Given the description of an element on the screen output the (x, y) to click on. 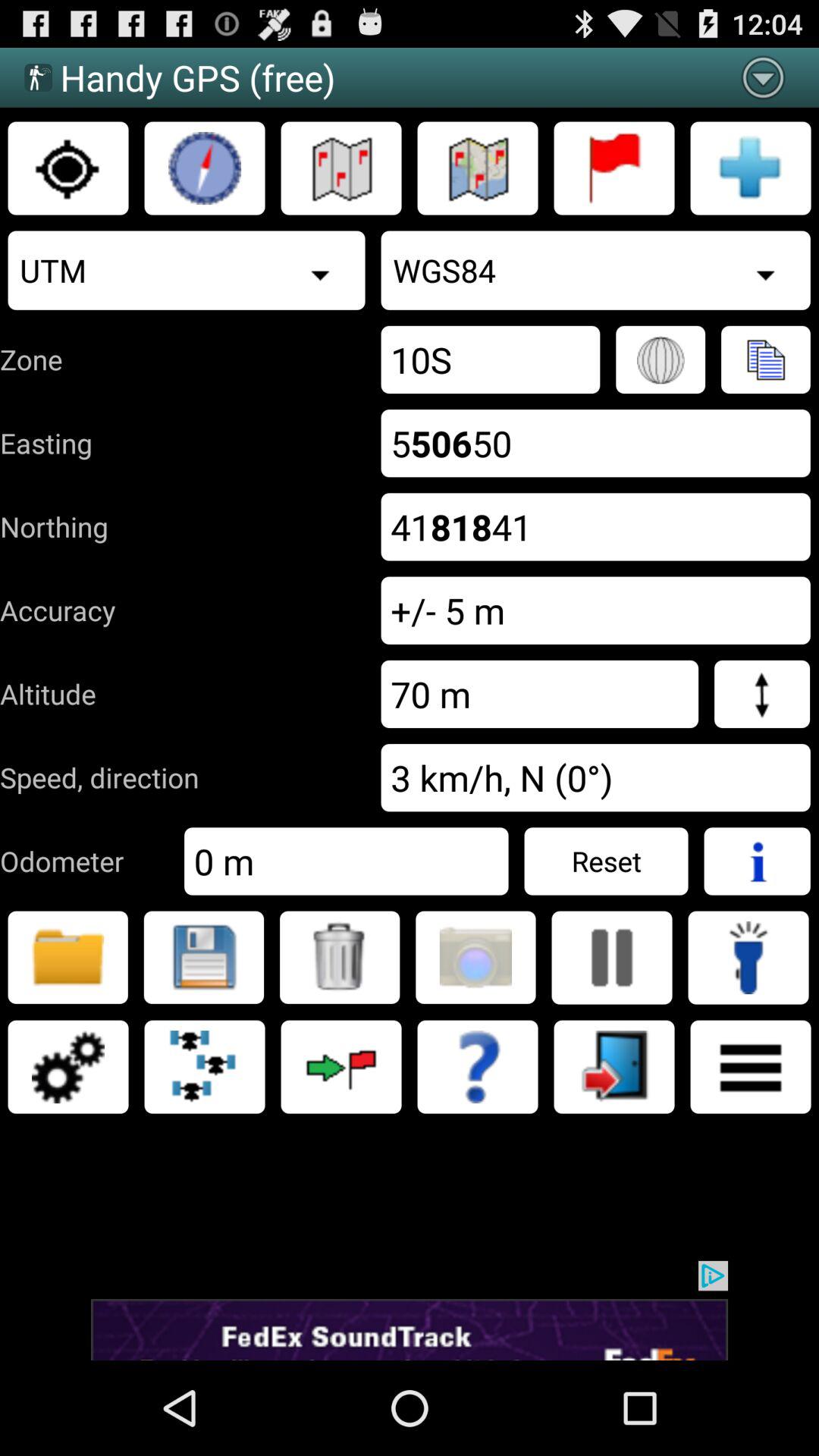
open file (67, 957)
